Given the description of an element on the screen output the (x, y) to click on. 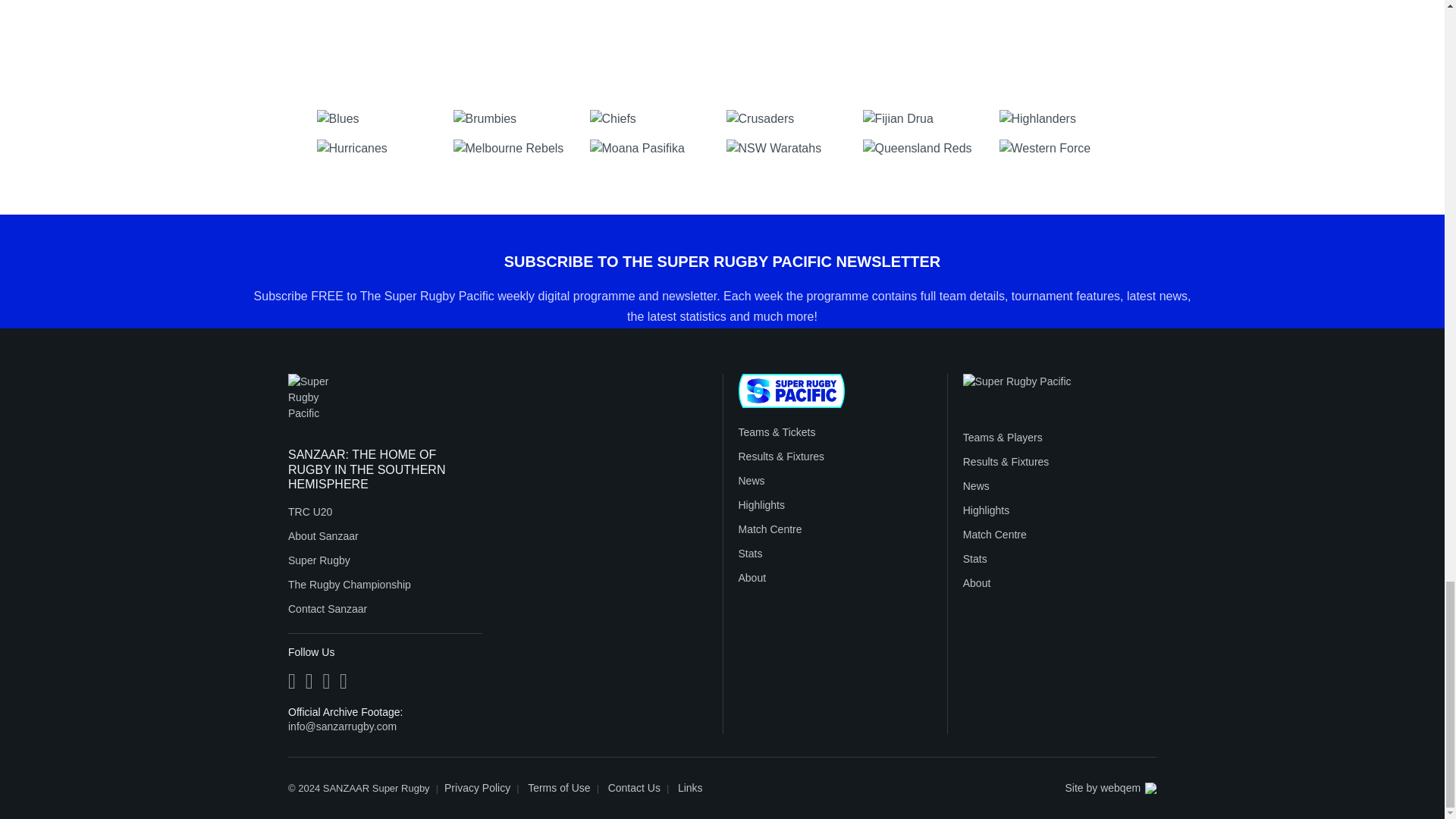
Fijian Drua (927, 117)
Chiefs (654, 117)
Blues (381, 117)
Brumbies (517, 117)
Crusaders (791, 117)
